Given the description of an element on the screen output the (x, y) to click on. 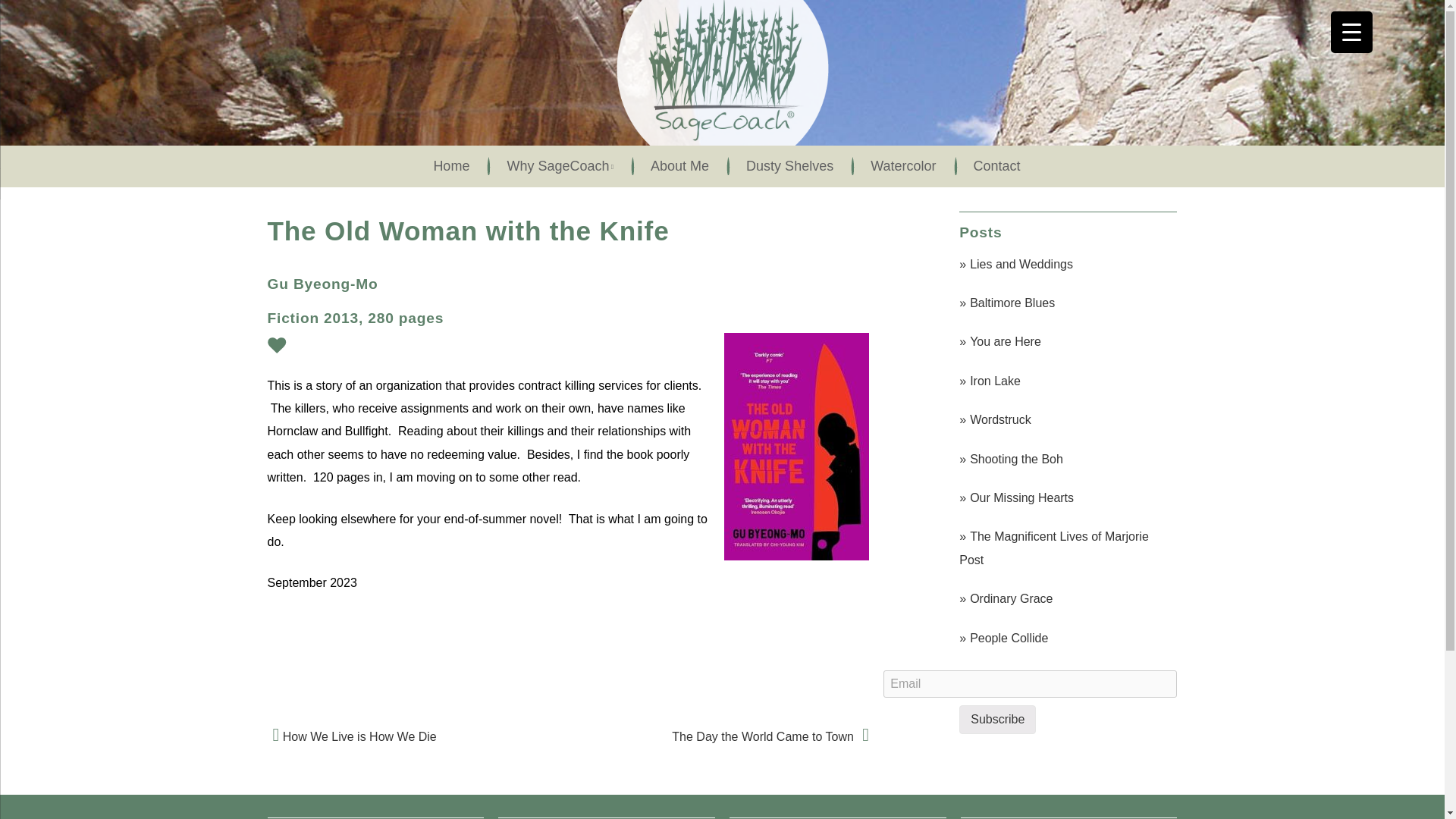
The Day the World Came to Town (770, 736)
SageCoach (721, 146)
Lies and Weddings (1066, 264)
Skip to content (40, 154)
You are Here (1066, 341)
Shooting the Boh (1066, 458)
The Magnificent Lives of Marjorie Post (1066, 548)
About Me (674, 166)
Home (446, 166)
People Collide (1066, 638)
